Given the description of an element on the screen output the (x, y) to click on. 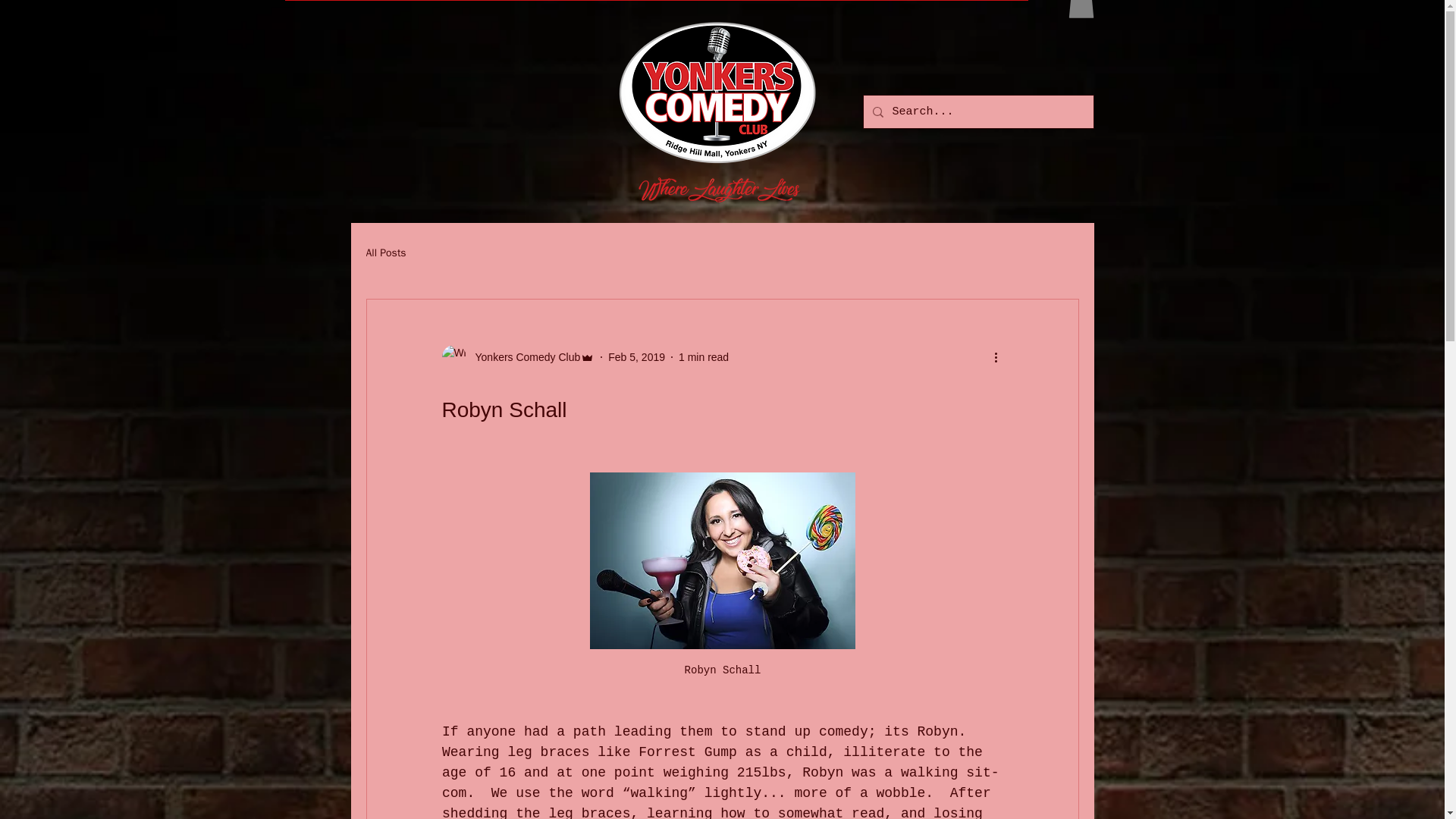
Yonkers Comedy Club (517, 356)
All Posts (385, 253)
Feb 5, 2019 (636, 356)
Yonkers Comedy Club (522, 356)
1 min read (703, 356)
